Given the description of an element on the screen output the (x, y) to click on. 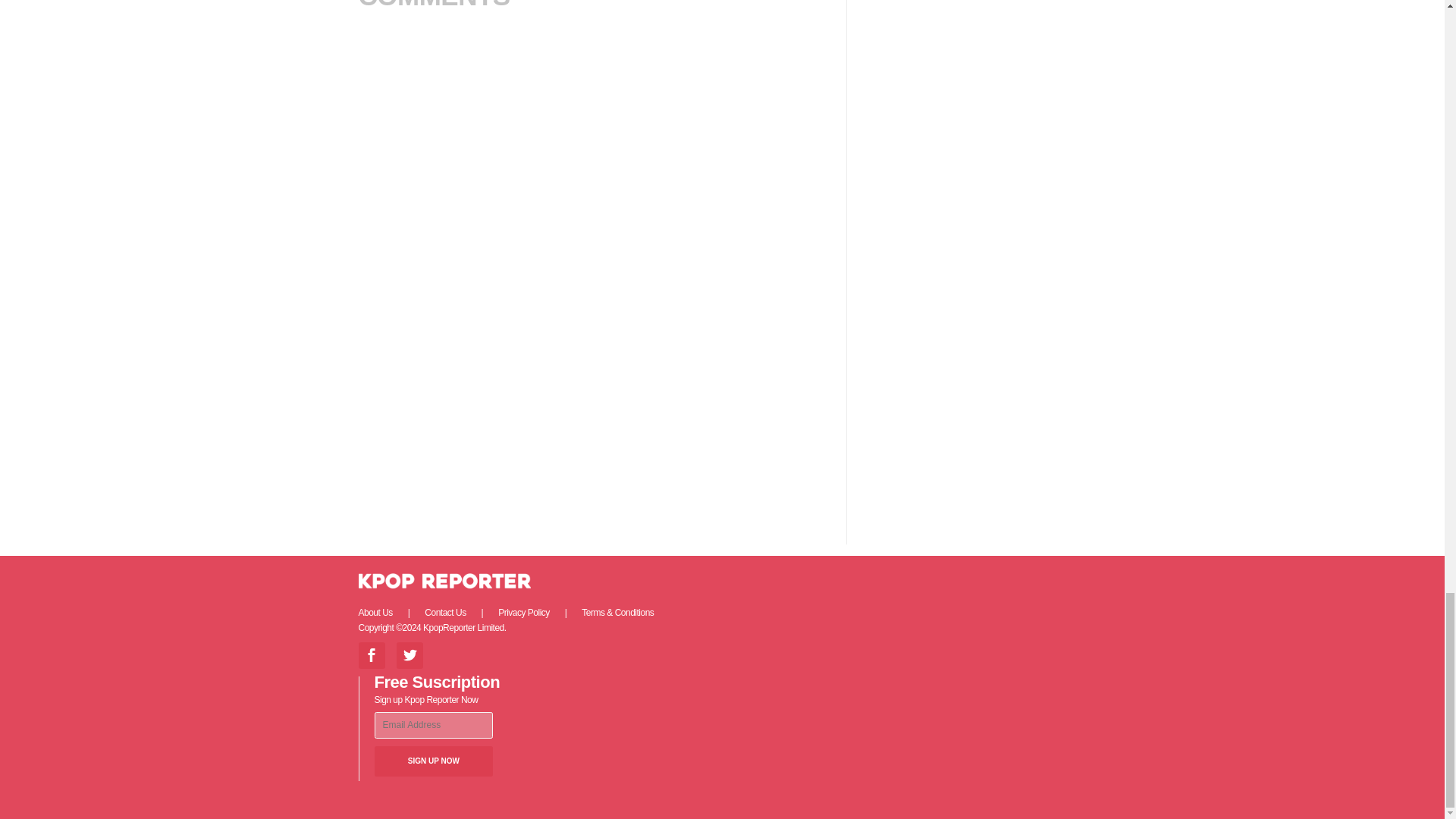
Vuukle Sharebar Widget (593, 395)
Vuukle Emotes Widget (593, 317)
Sign up Now (433, 761)
Vuukle Comments Widget (593, 141)
